Given the description of an element on the screen output the (x, y) to click on. 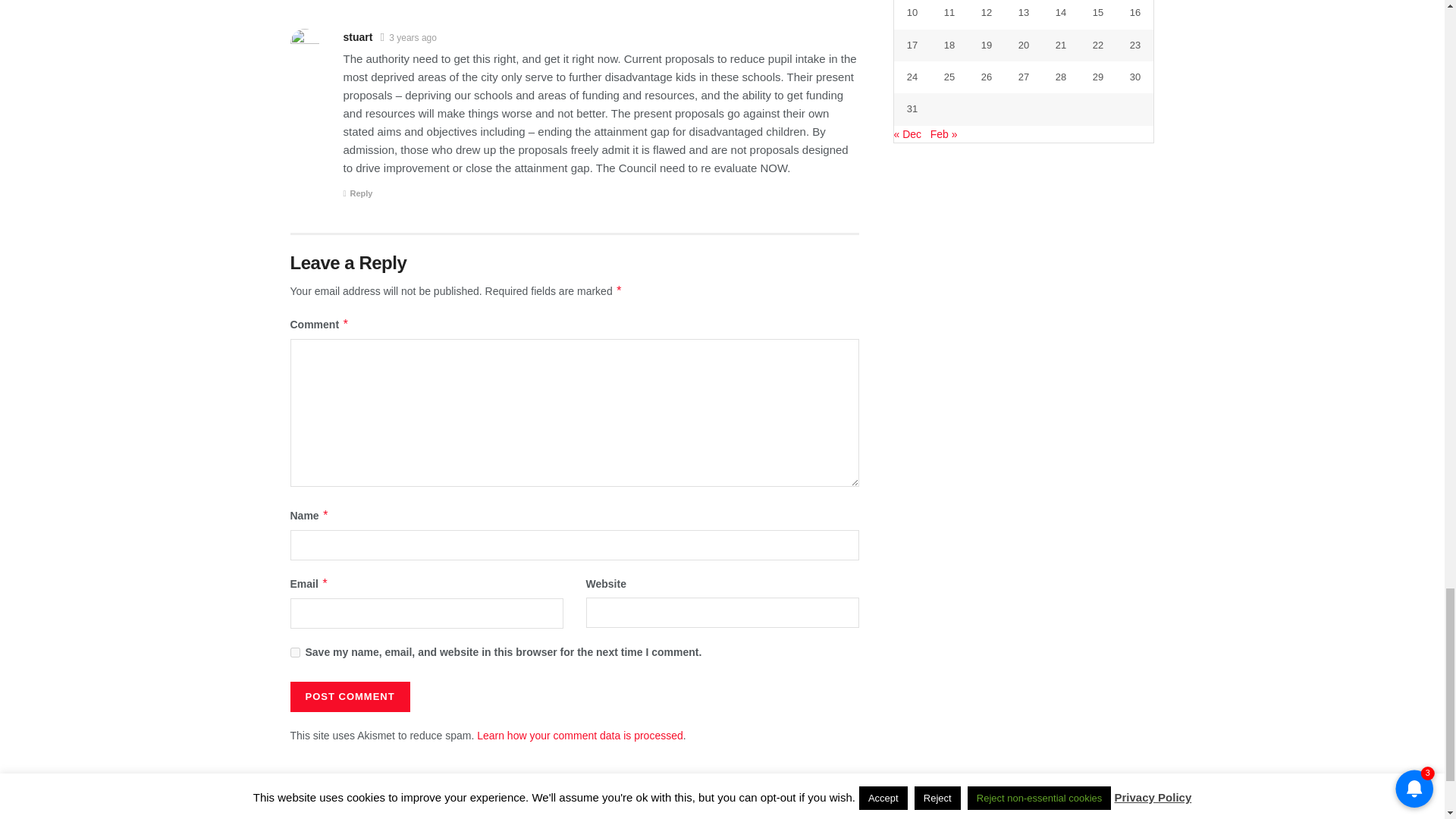
yes (294, 652)
Post Comment (349, 696)
